Given the description of an element on the screen output the (x, y) to click on. 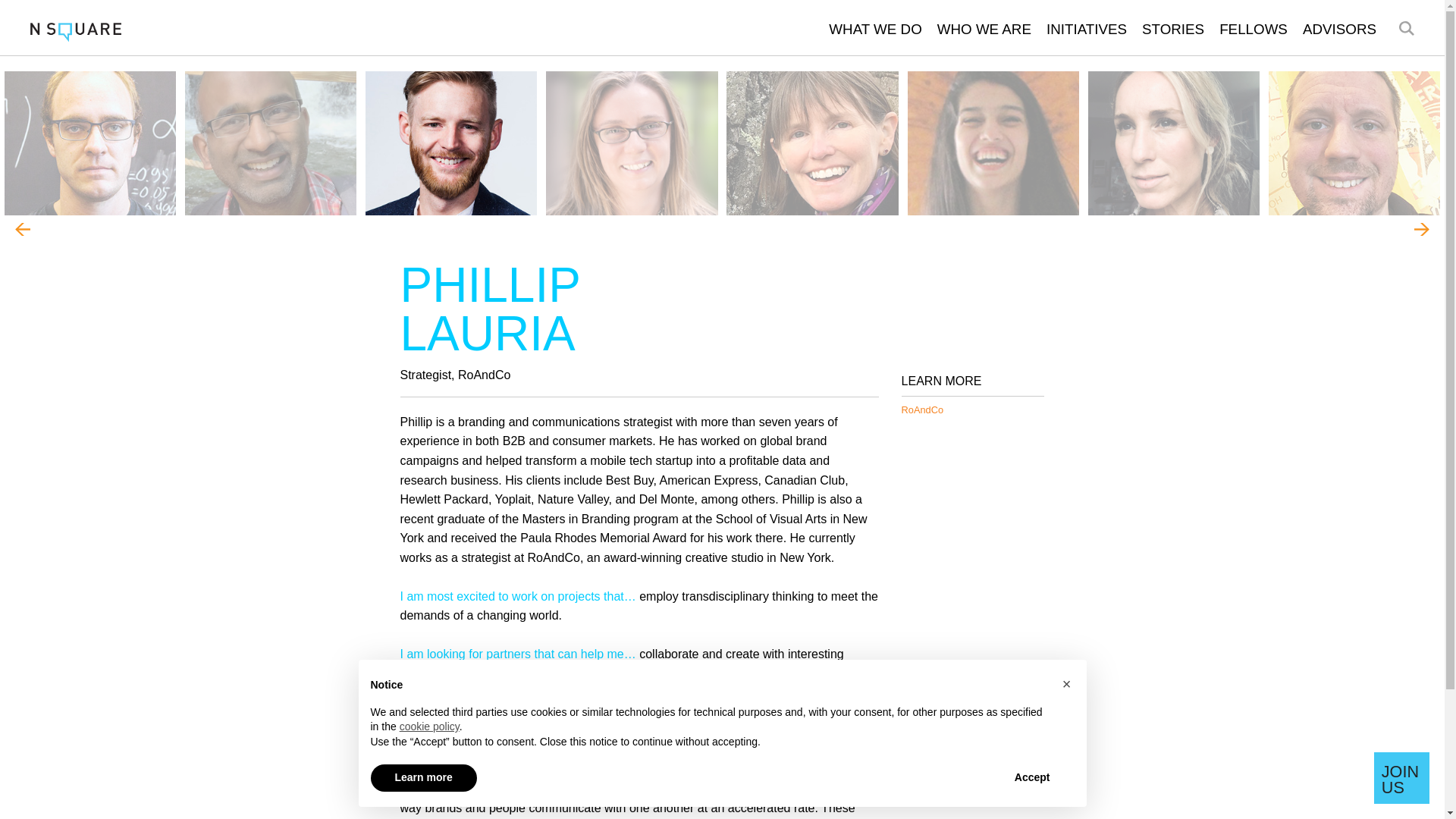
ADVISORS (1339, 28)
WHO WE ARE (983, 28)
FELLOWS (1253, 28)
STORIES (1172, 28)
WHAT WE DO (874, 28)
INITIATIVES (1086, 28)
